Given the description of an element on the screen output the (x, y) to click on. 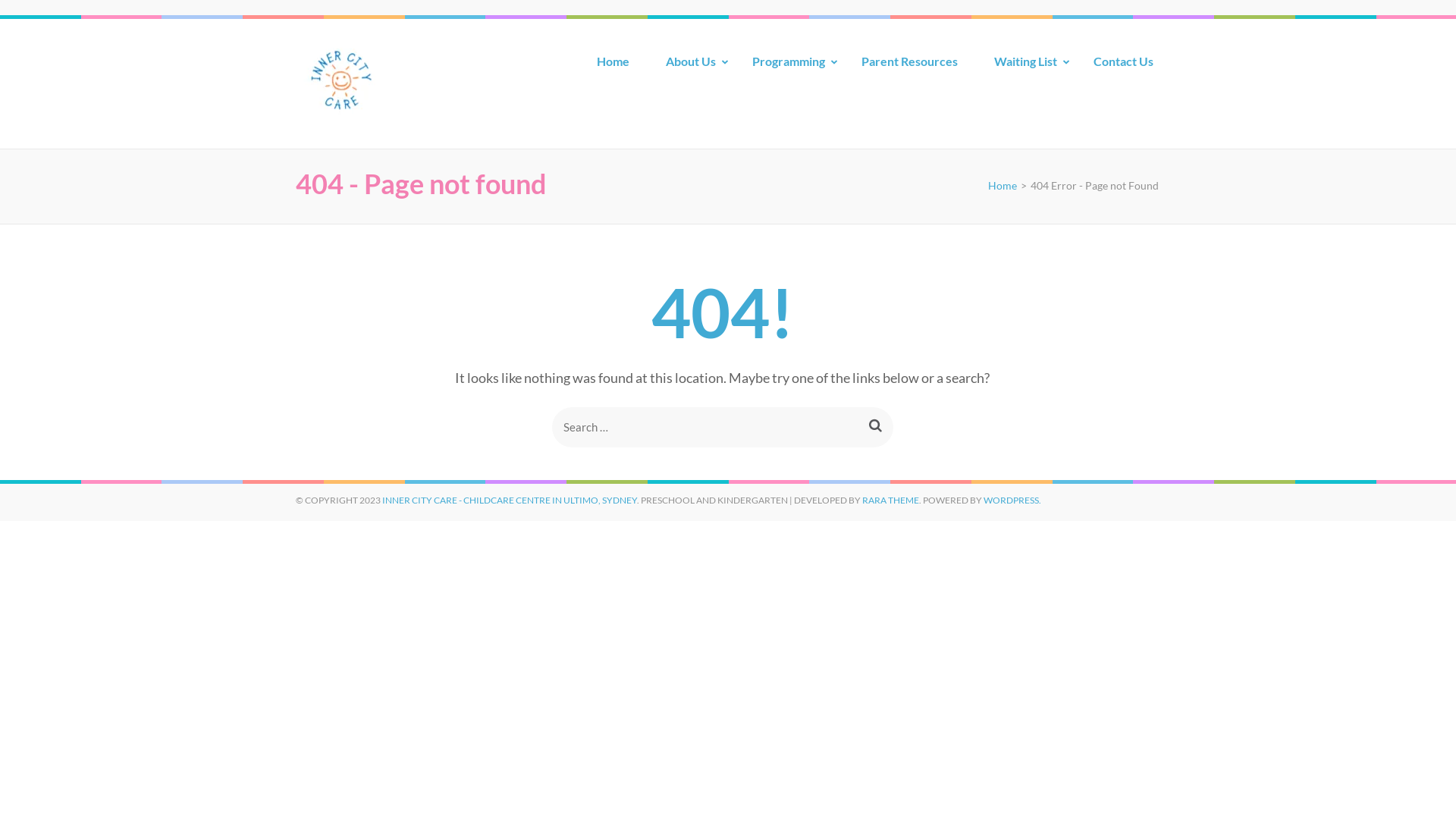
Waiting List Element type: text (1025, 67)
About Us Element type: text (690, 67)
Parent Resources Element type: text (909, 67)
Home Element type: text (1002, 184)
Search Element type: text (875, 425)
RARA THEME Element type: text (890, 499)
Programming Element type: text (788, 67)
Contact Us Element type: text (1123, 67)
INNER CITY CARE - CHILDCARE CENTRE IN ULTIMO, SYDNEY Element type: text (509, 499)
WORDPRESS. Element type: text (1012, 499)
Home Element type: text (612, 67)
